Given the description of an element on the screen output the (x, y) to click on. 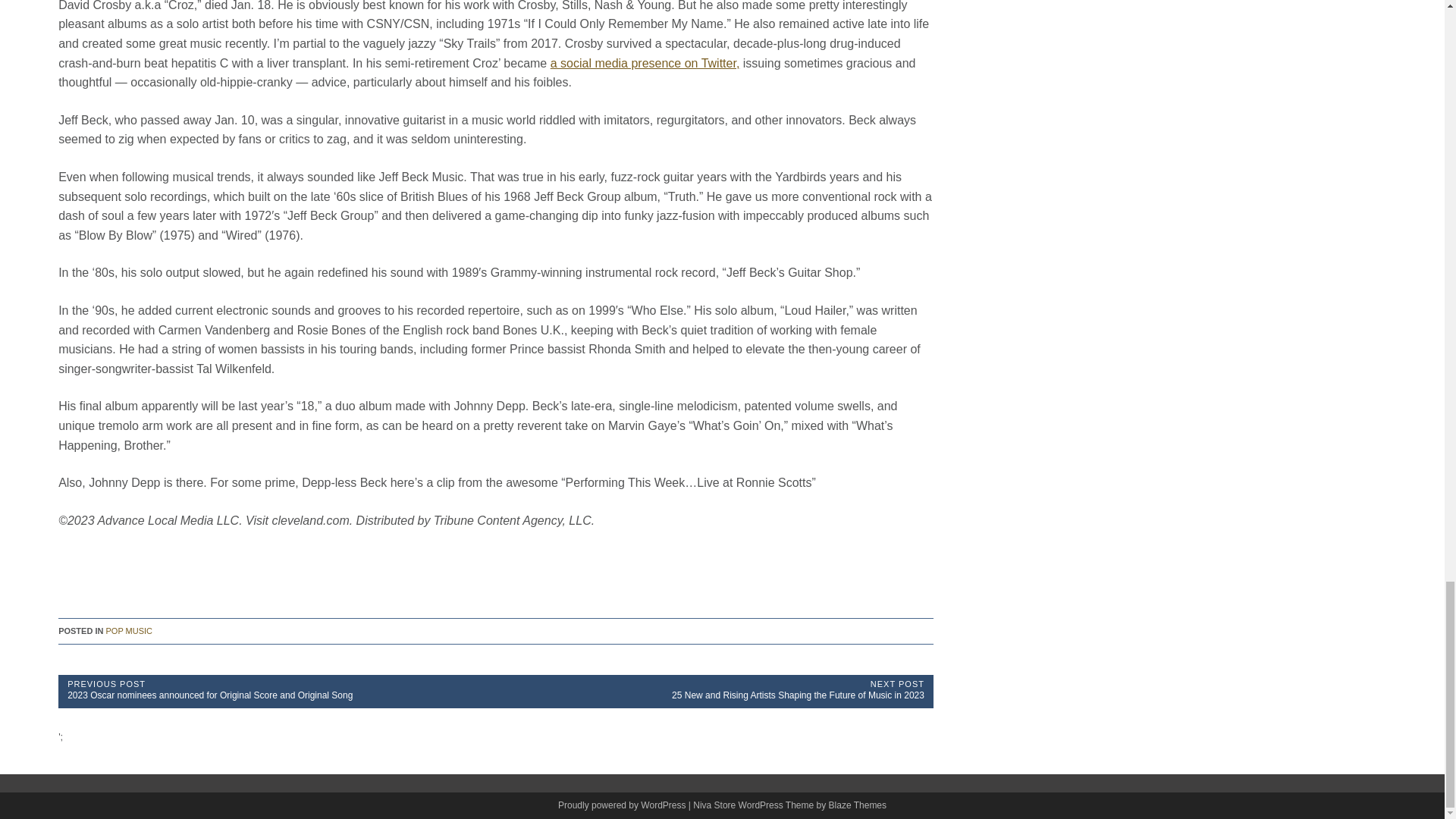
POP MUSIC (128, 631)
a social media presence on Twitter, (644, 62)
